Given the description of an element on the screen output the (x, y) to click on. 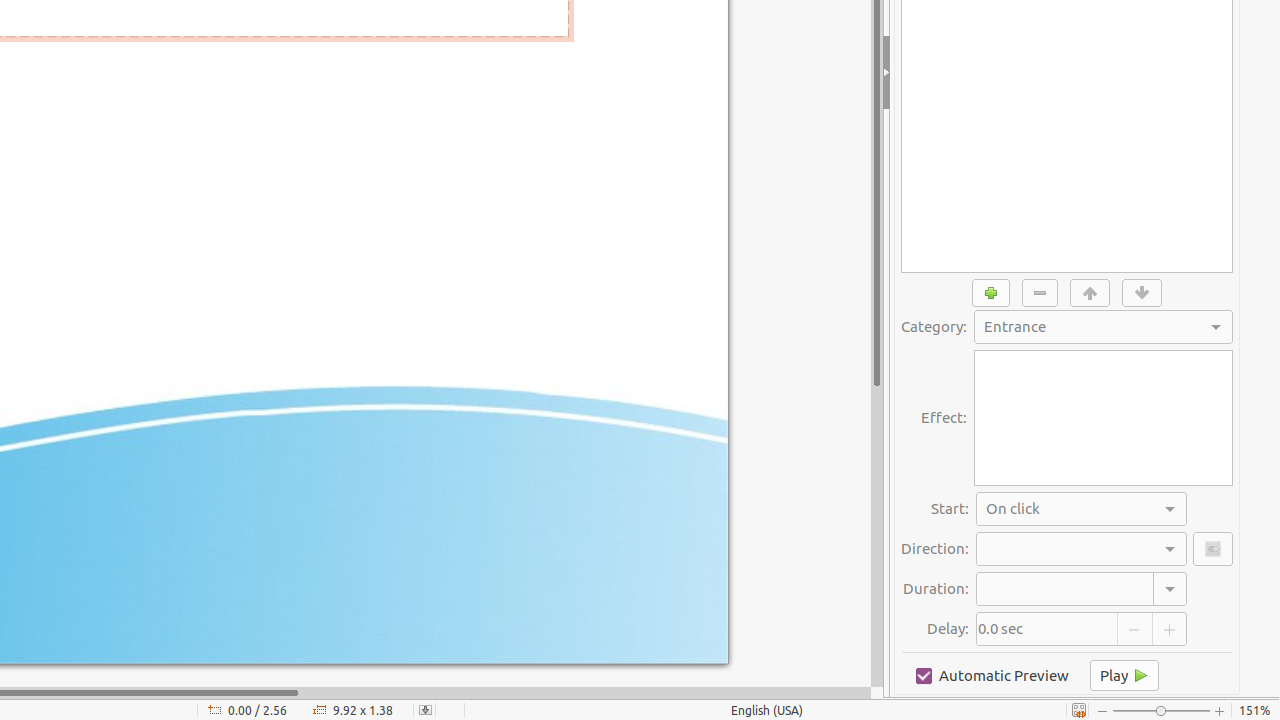
Move Down Element type: push-button (1142, 293)
Options Element type: push-button (1213, 549)
Move Up Element type: push-button (1090, 293)
Automatic Preview Element type: check-box (992, 675)
Play Element type: push-button (1124, 675)
